Given the description of an element on the screen output the (x, y) to click on. 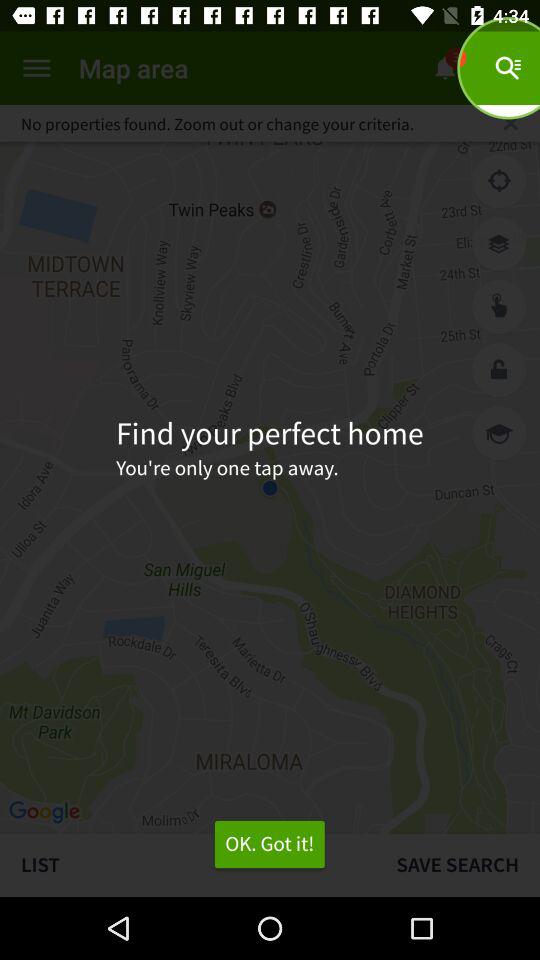
go to close (510, 123)
